Given the description of an element on the screen output the (x, y) to click on. 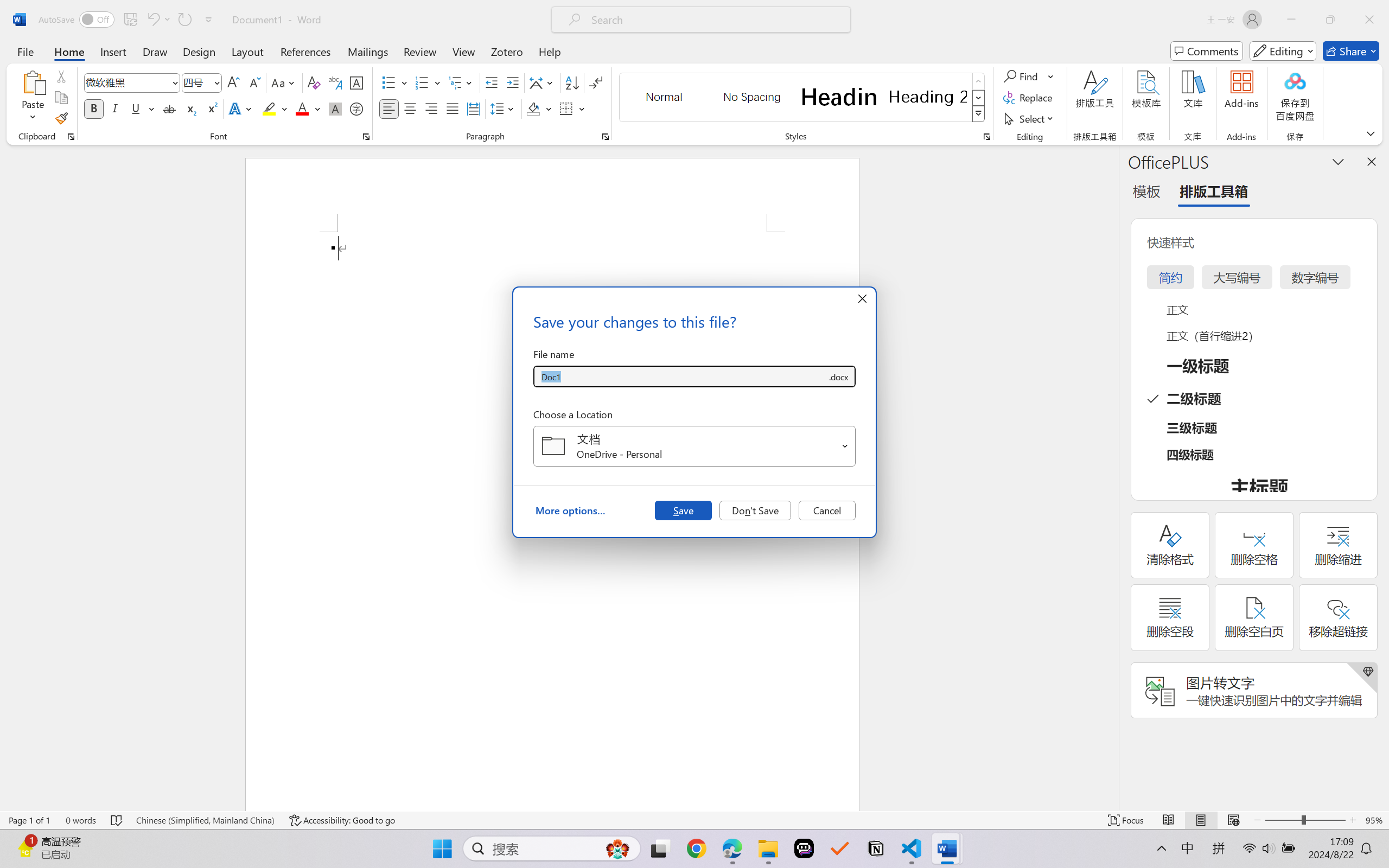
Class: NetUIScrollBar (1111, 477)
